Given the description of an element on the screen output the (x, y) to click on. 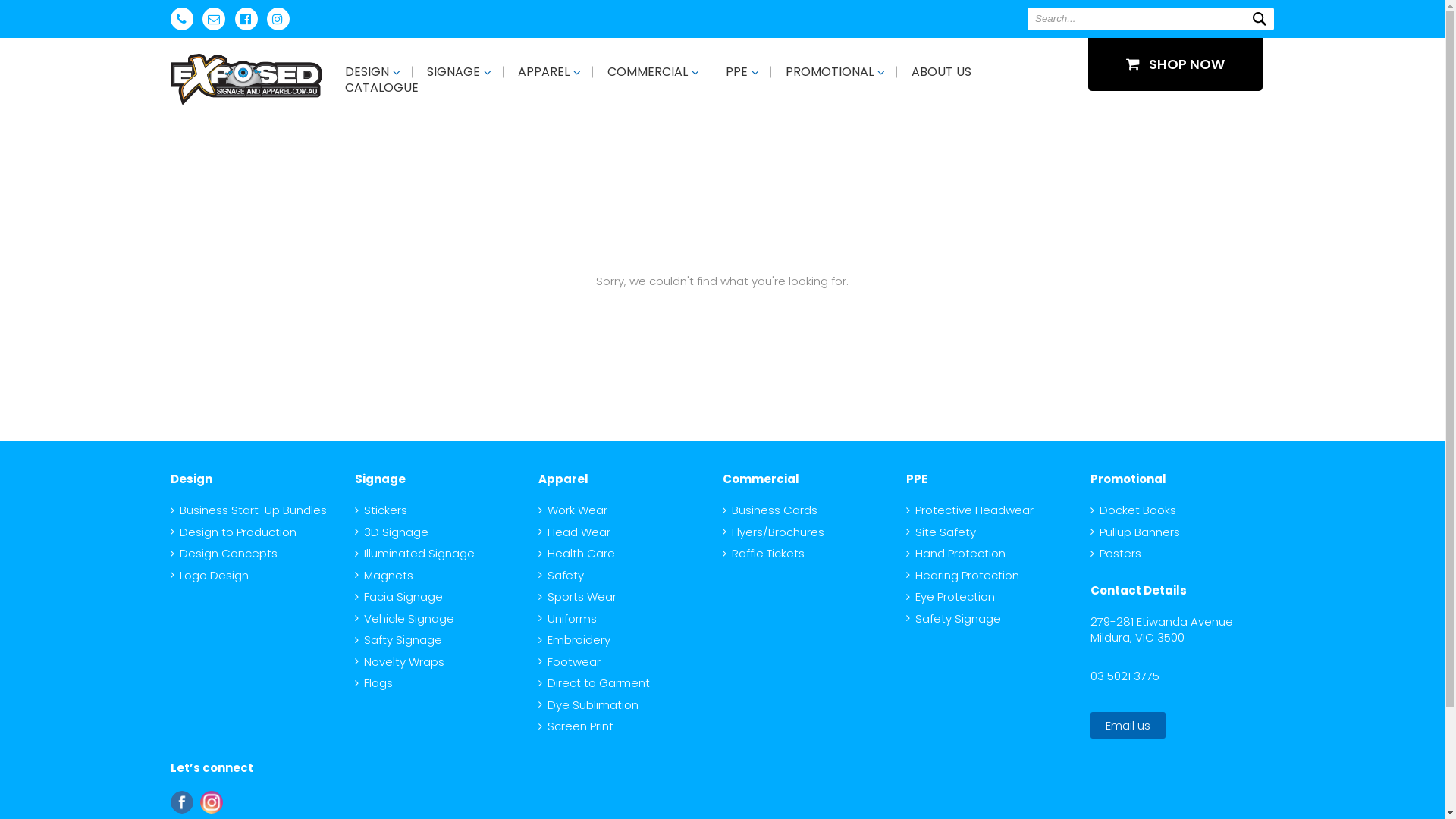
Posters Element type: text (1115, 553)
Hearing Protection Element type: text (962, 575)
Health Care Element type: text (576, 553)
Dye Sublimation Element type: text (588, 704)
Contact Details Element type: text (1138, 590)
Work Wear Element type: text (572, 509)
Safety Element type: text (560, 575)
Eye Protection Element type: text (950, 596)
Design Element type: text (191, 478)
PPE Element type: text (736, 71)
APPAREL Element type: text (543, 71)
Apparel Element type: text (563, 478)
Head Wear Element type: text (574, 531)
Facia Signage Element type: text (398, 596)
Design Concepts Element type: text (223, 553)
Promotional Element type: text (1128, 478)
PPE Element type: text (916, 478)
Design to Production Element type: text (233, 531)
Raffle Tickets Element type: text (762, 553)
Sports Wear Element type: text (577, 596)
Signage Element type: text (379, 478)
Business Start-Up Bundles Element type: text (248, 509)
PROMOTIONAL Element type: text (829, 71)
Site Safety Element type: text (940, 531)
Footwear Element type: text (569, 661)
3D Signage Element type: text (391, 531)
ABOUT US Element type: text (941, 71)
Uniforms Element type: text (567, 617)
Flyers/Brochures Element type: text (772, 531)
Embroidery Element type: text (574, 639)
Email us Element type: text (1127, 725)
Safty Signage Element type: text (398, 639)
Safety Signage Element type: text (953, 617)
Stickers Element type: text (380, 509)
Logo Design Element type: text (209, 575)
Docket Books Element type: text (1133, 509)
DESIGN Element type: text (367, 71)
Direct to Garment Element type: text (593, 682)
Hand Protection Element type: text (955, 553)
Screen Print Element type: text (575, 726)
SIGNAGE Element type: text (453, 71)
Commercial Element type: text (759, 478)
Pullup Banners Element type: text (1134, 531)
Flags Element type: text (373, 682)
SHOP NOW Element type: text (1175, 64)
Novelty Wraps Element type: text (399, 661)
Vehicle Signage Element type: text (404, 617)
Magnets Element type: text (383, 575)
COMMERCIAL Element type: text (647, 71)
03 5021 3775 Element type: text (1124, 675)
Protective Headwear Element type: text (969, 509)
Business Cards Element type: text (768, 509)
Illuminated Signage Element type: text (414, 553)
CATALOGUE Element type: text (381, 87)
